Given the description of an element on the screen output the (x, y) to click on. 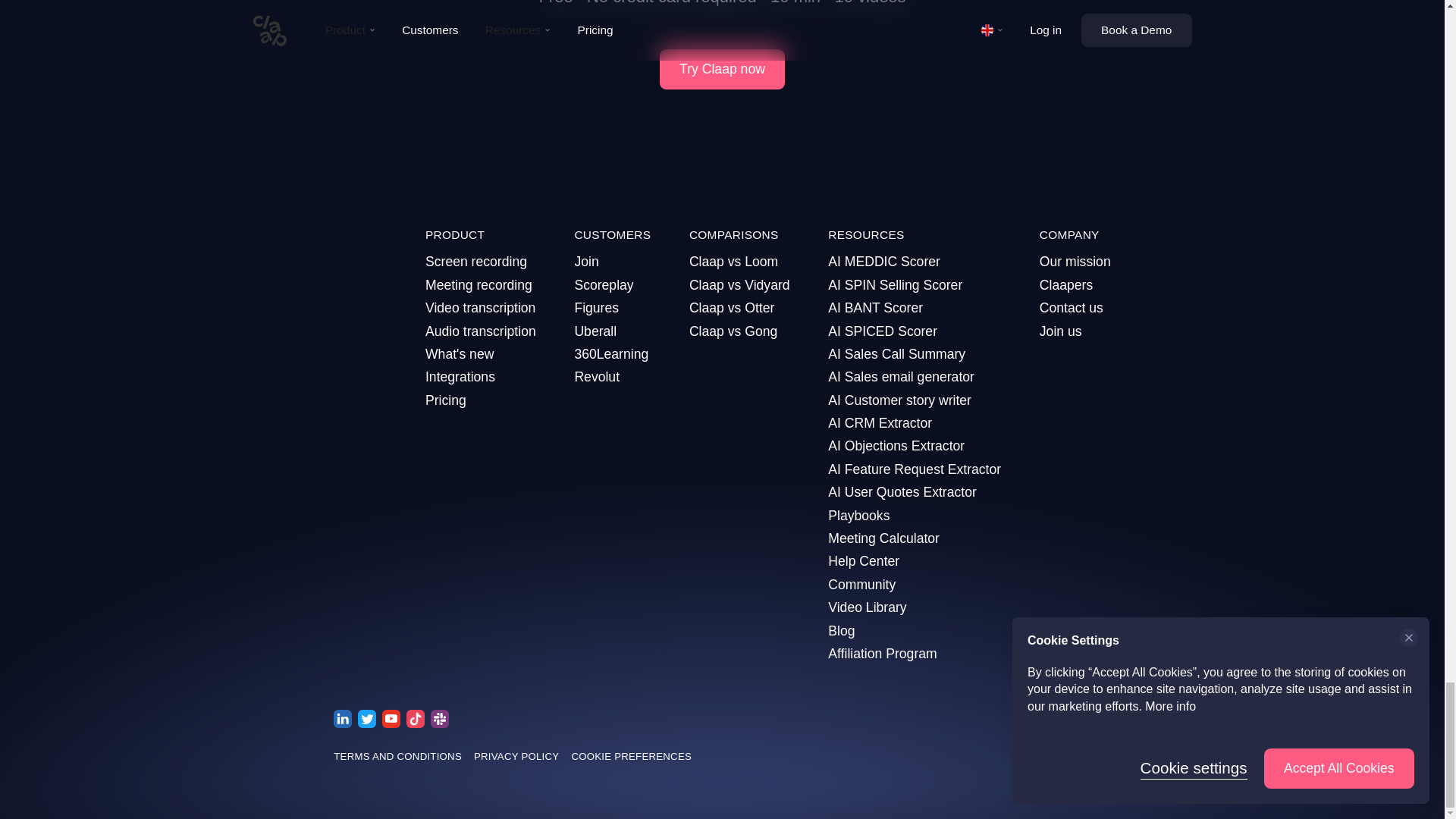
Pricing (480, 400)
What's new (480, 354)
Video transcription (480, 307)
Audio transcription (480, 331)
Try Claap now (722, 69)
Meeting recording (480, 284)
Integrations (480, 376)
Screen recording (480, 261)
